Given the description of an element on the screen output the (x, y) to click on. 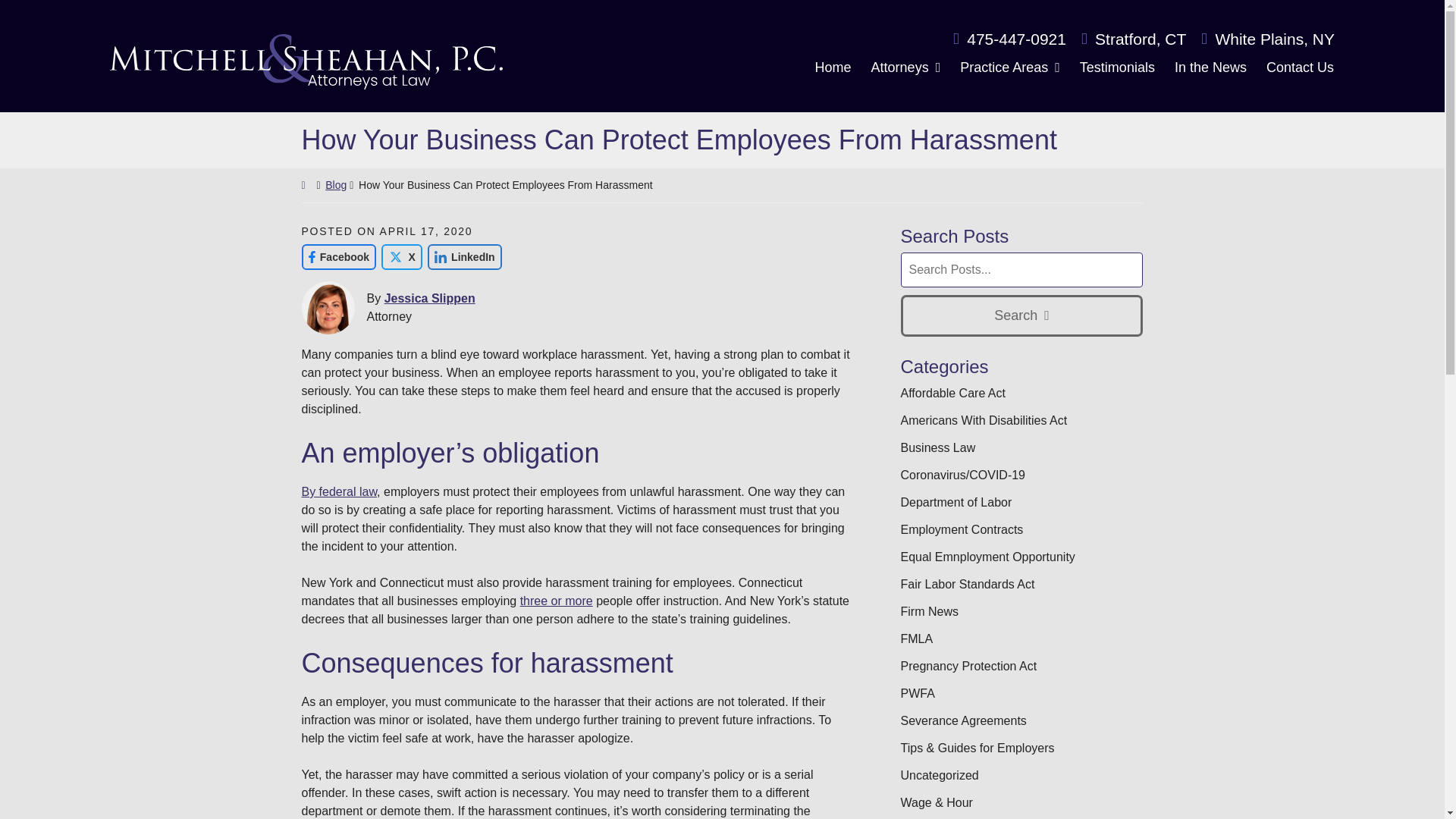
Attorneys (905, 65)
Return home (307, 184)
In the News (1209, 65)
Blog (335, 184)
Practice Areas (1010, 65)
Return home (306, 61)
X (401, 256)
Home (832, 65)
Facebook (339, 256)
Contact Us (1299, 65)
Testimonials (1116, 65)
475-447-0921 (1009, 38)
